Given the description of an element on the screen output the (x, y) to click on. 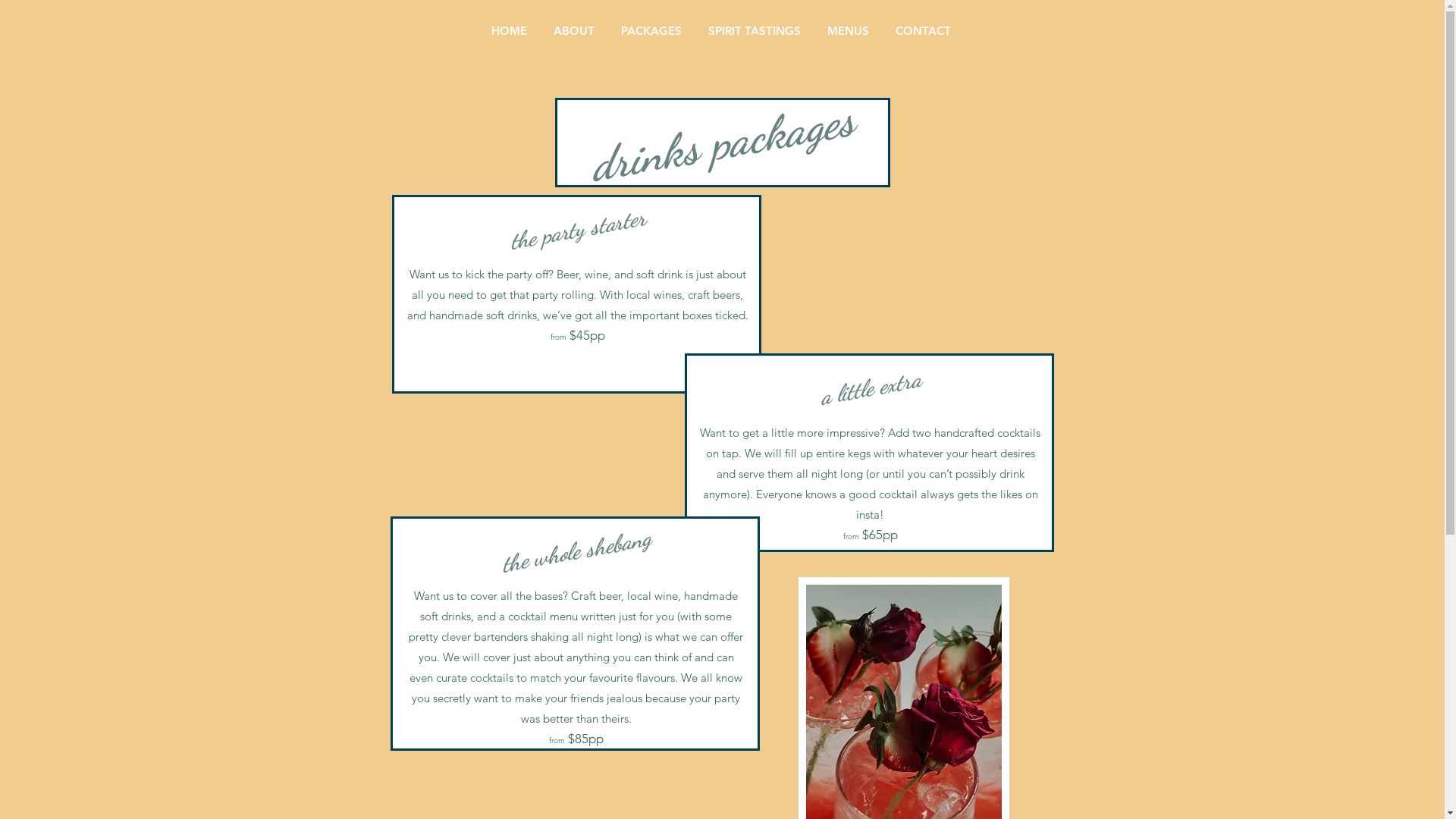
Restaurant Social Bar Element type: hover (1404, 316)
SPIRIT TASTINGS Element type: text (755, 30)
CONTACT Element type: text (924, 30)
ABOUT Element type: text (574, 30)
PACKAGES Element type: text (652, 30)
MENUS Element type: text (849, 30)
HOME Element type: text (510, 30)
